Given the description of an element on the screen output the (x, y) to click on. 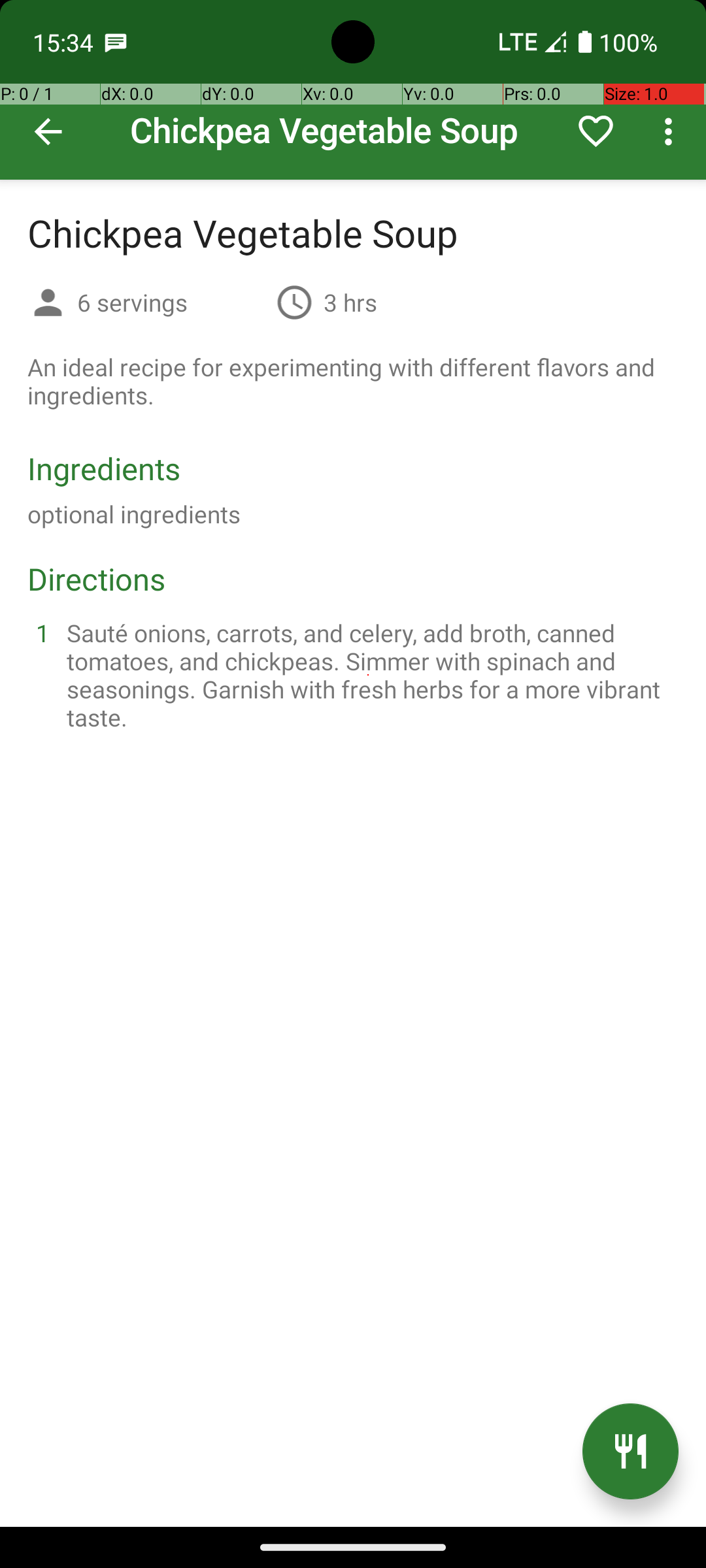
optional ingredients Element type: android.widget.TextView (133, 513)
Sauté onions, carrots, and celery, add broth, canned tomatoes, and chickpeas. Simmer with spinach and seasonings. Garnish with fresh herbs for a more vibrant taste. Element type: android.widget.TextView (368, 674)
